Given the description of an element on the screen output the (x, y) to click on. 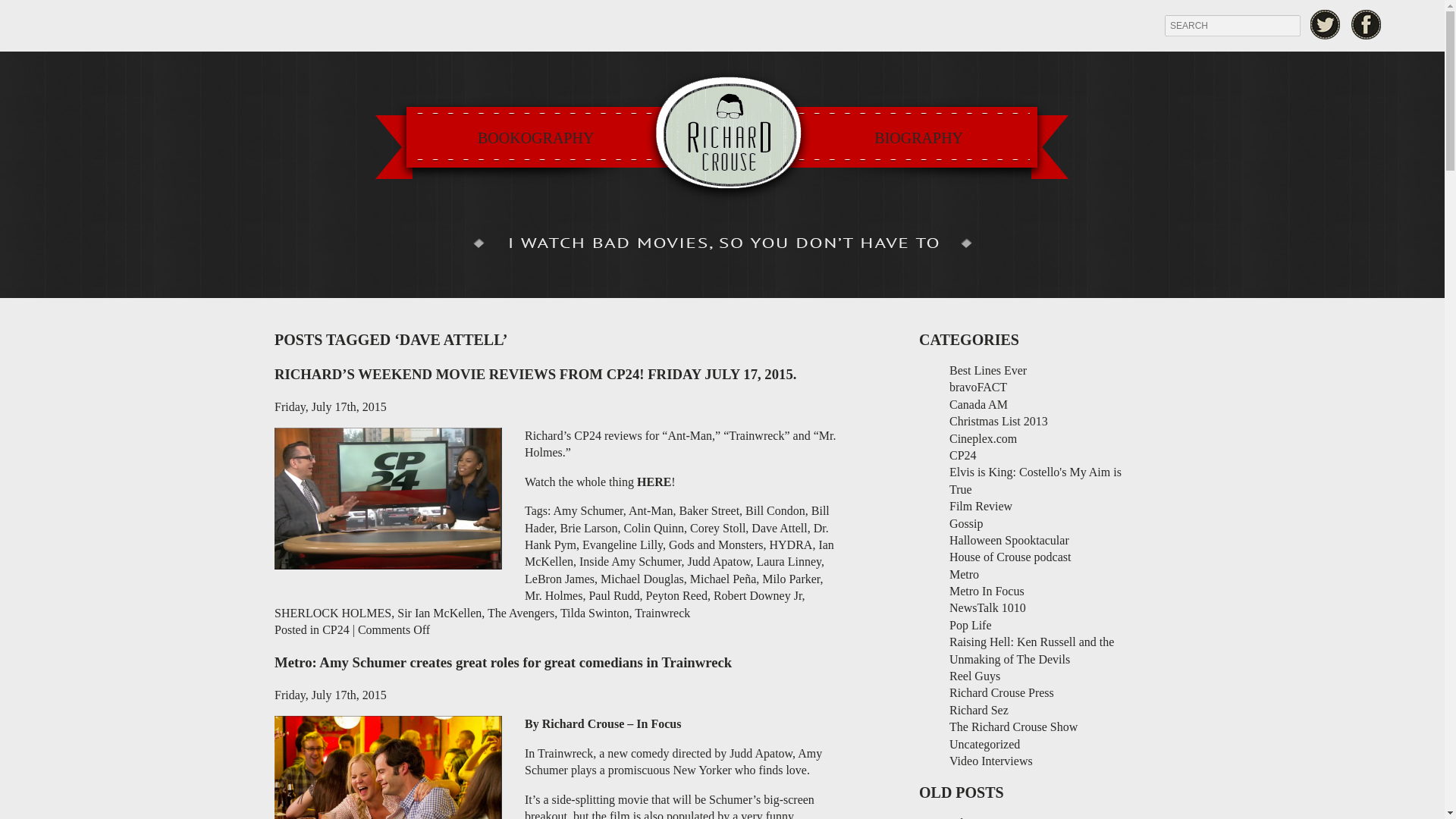
Sir Ian McKellen (439, 612)
Judd Apatow (718, 561)
Dave Attell (778, 527)
CP24 (335, 629)
Twitter (1324, 24)
Baker Street (709, 510)
Ant-Man (650, 510)
HYDRA (790, 544)
Milo Parker (790, 578)
Bill Hader (676, 518)
BIOGRAPHY (918, 137)
Mr. Holmes (553, 594)
Dr. Hank Pym (676, 536)
Brie Larson (588, 527)
Inside Amy Schumer (630, 561)
